Given the description of an element on the screen output the (x, y) to click on. 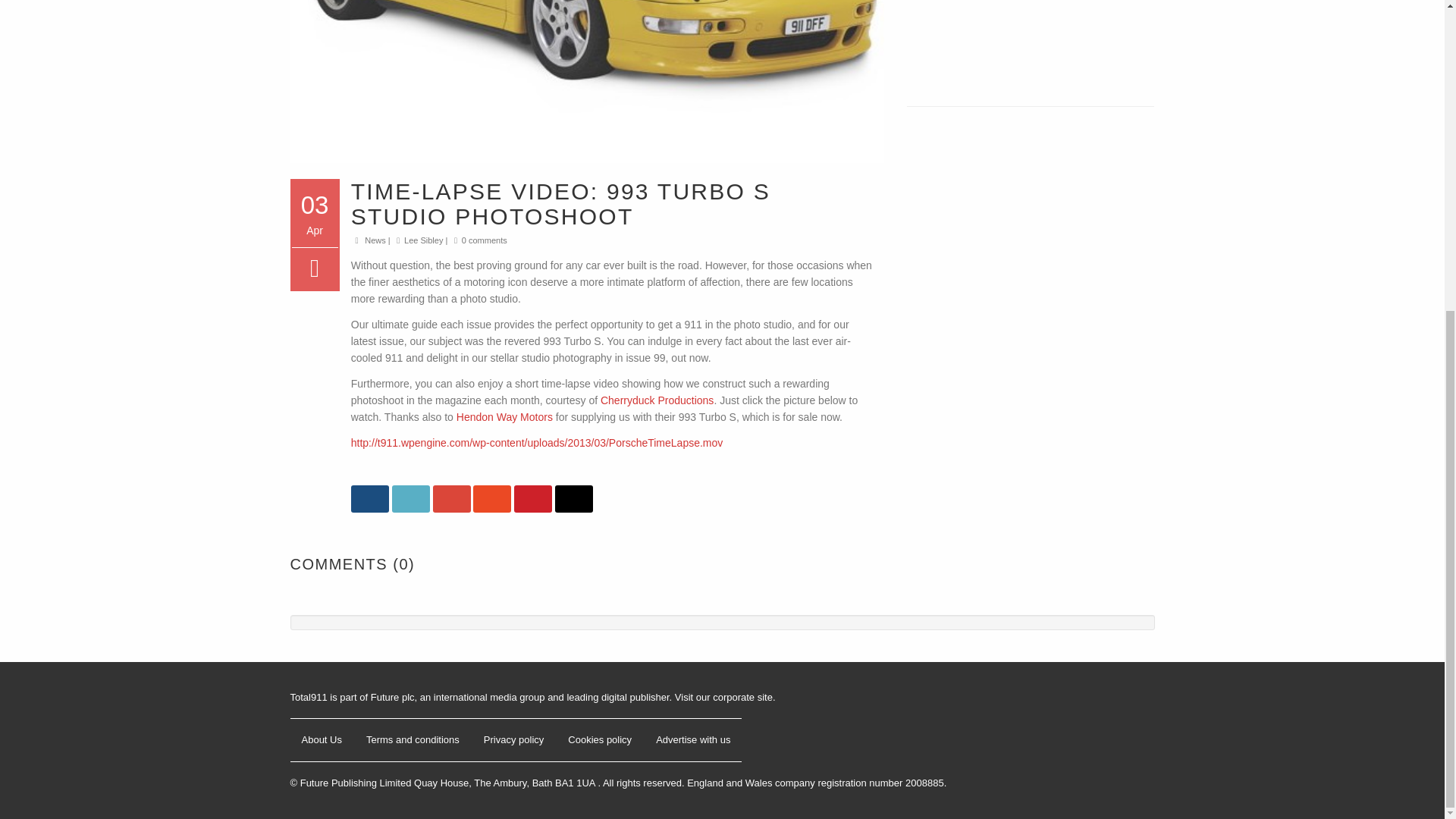
Share Twitter (410, 498)
Share on Reddit (573, 498)
Pin on Pintrest (532, 498)
Cherryduck Productions (656, 399)
About Us (320, 739)
Plus one on Google Plus (451, 498)
Save on Stumble Upon (492, 498)
Share on Facebook (369, 498)
Terms and conditions (412, 739)
Hendon Way Motors (505, 417)
Visit our corporate site (724, 696)
